Given the description of an element on the screen output the (x, y) to click on. 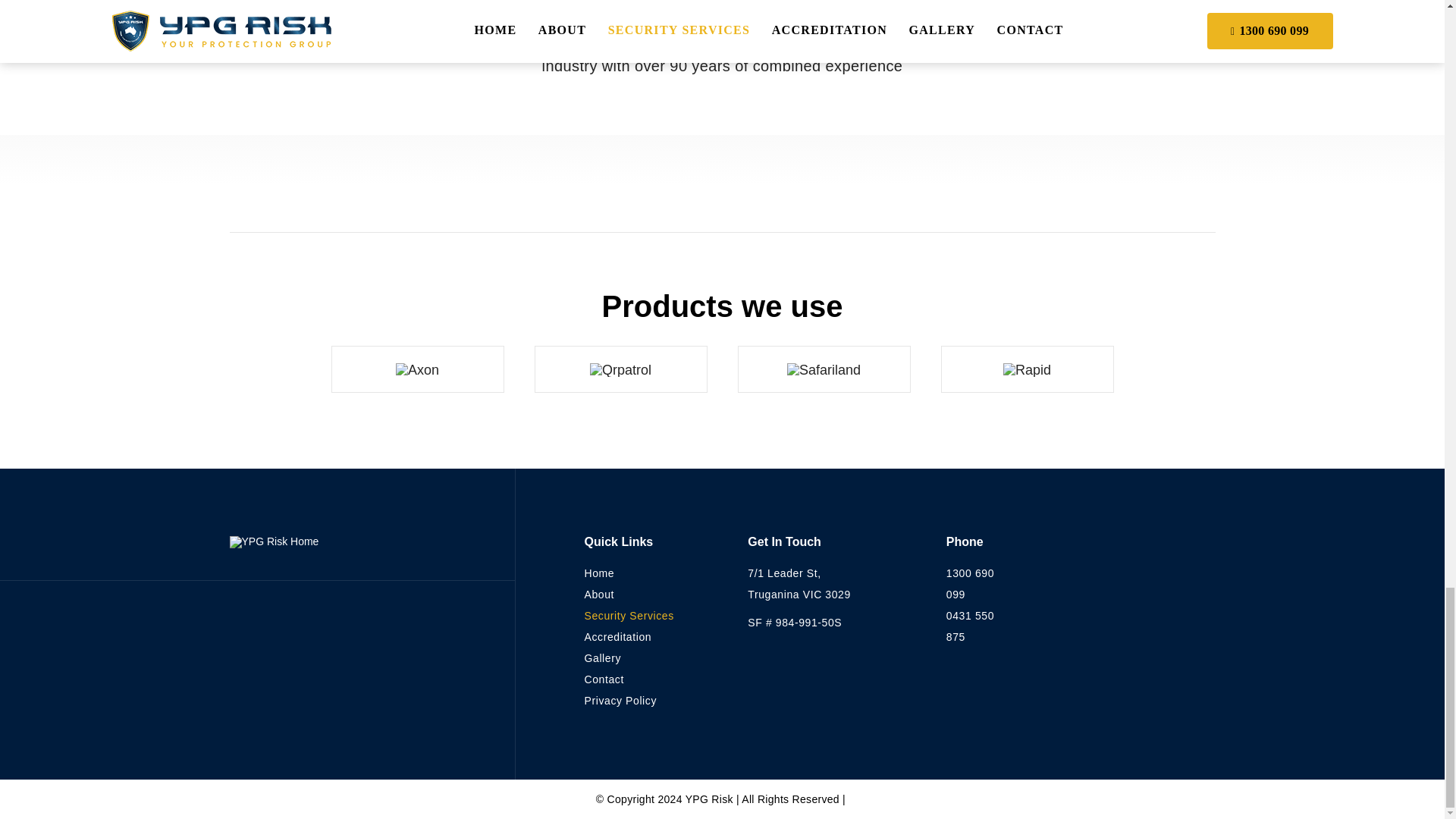
Security Services (627, 615)
Gallery (602, 657)
Accreditation (616, 636)
About (598, 594)
Home (598, 573)
